Given the description of an element on the screen output the (x, y) to click on. 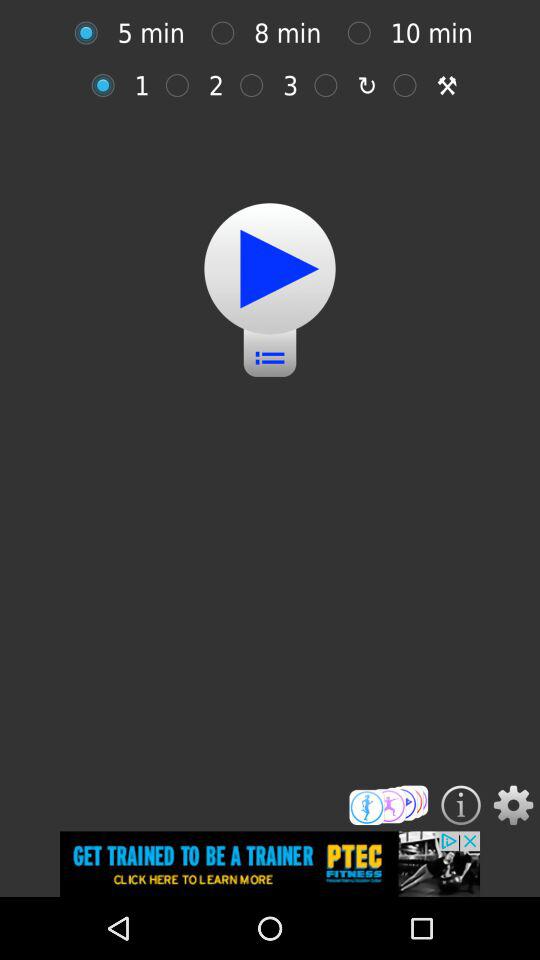
click to select (410, 85)
